Given the description of an element on the screen output the (x, y) to click on. 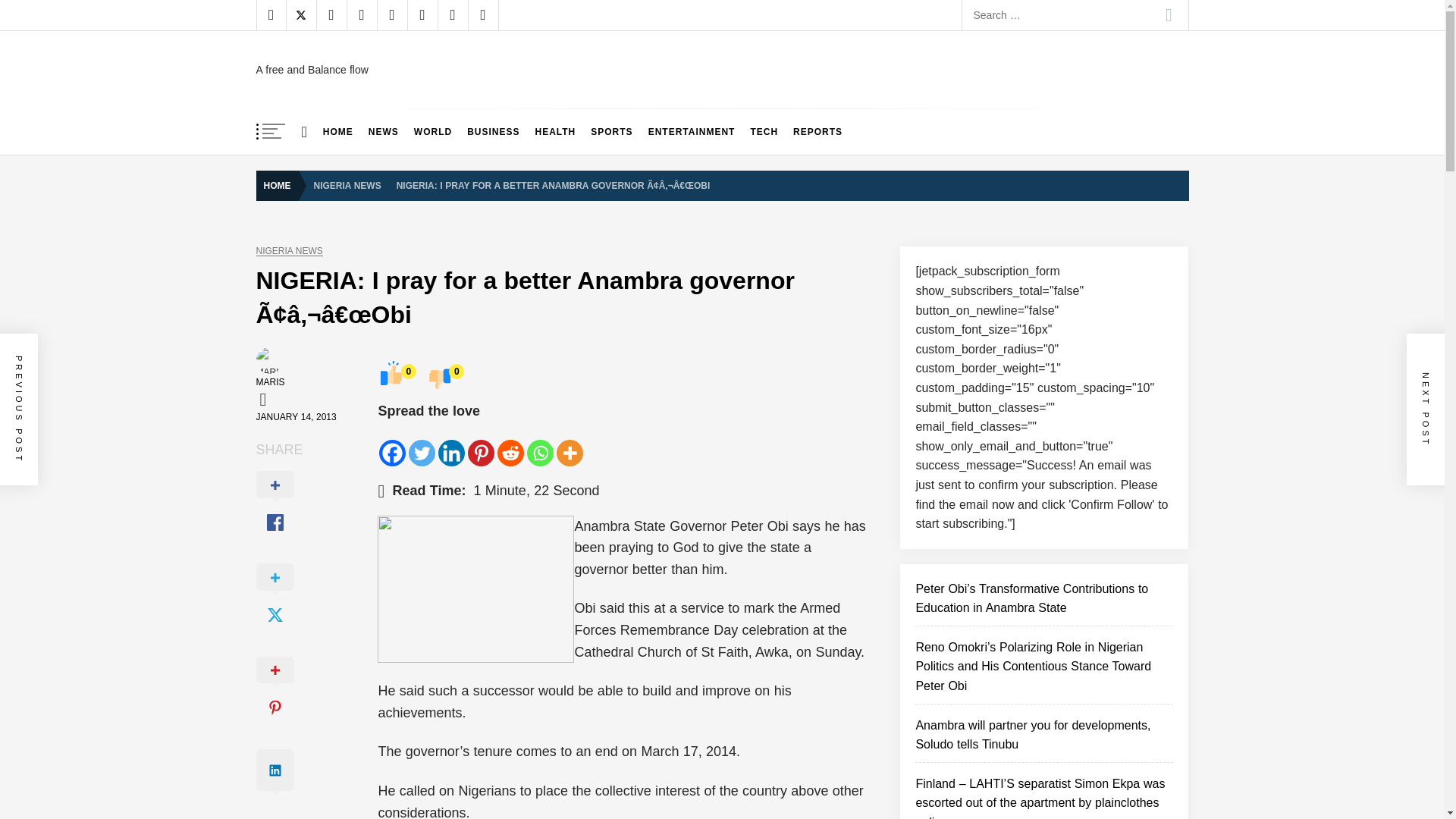
HOME (338, 131)
Search (1169, 15)
Search (1169, 15)
BUSINESS (493, 131)
Search (1169, 15)
WORLD (433, 131)
NEWS (383, 131)
SPORTS (611, 131)
Codewit World News (383, 76)
HEALTH (555, 131)
